Given the description of an element on the screen output the (x, y) to click on. 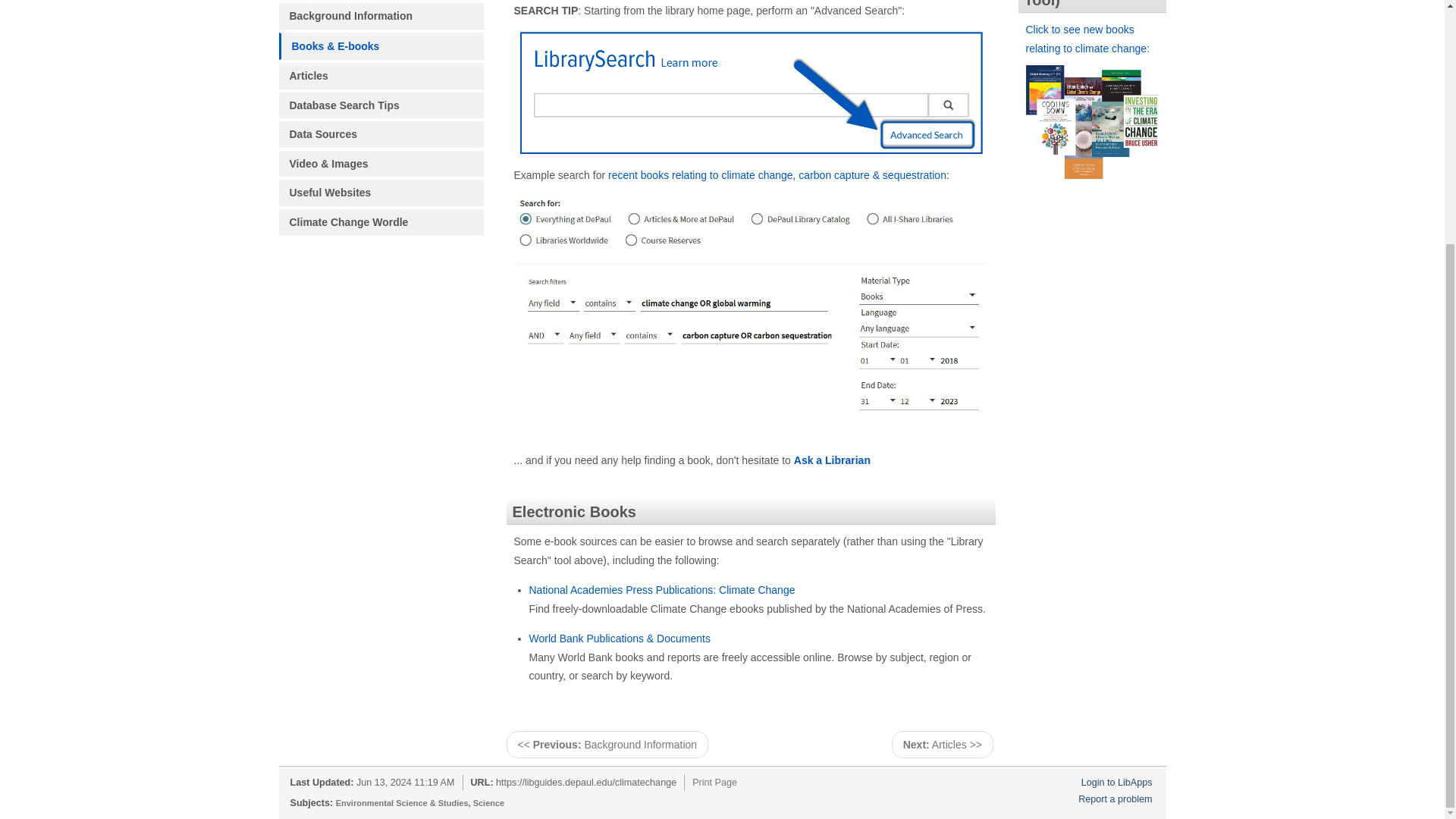
Data Sources (381, 134)
Useful Websites (381, 192)
Database Search Tips (381, 105)
Articles (381, 76)
National Academies Press Publications: Climate Change (661, 589)
Ask a Librarian (831, 460)
Great starting points for your research (381, 16)
Click to see new books relating to climate change (1086, 38)
Climate Change Wordle (381, 222)
Some useful portals for finding environmental information (381, 192)
Background Information (381, 16)
